Given the description of an element on the screen output the (x, y) to click on. 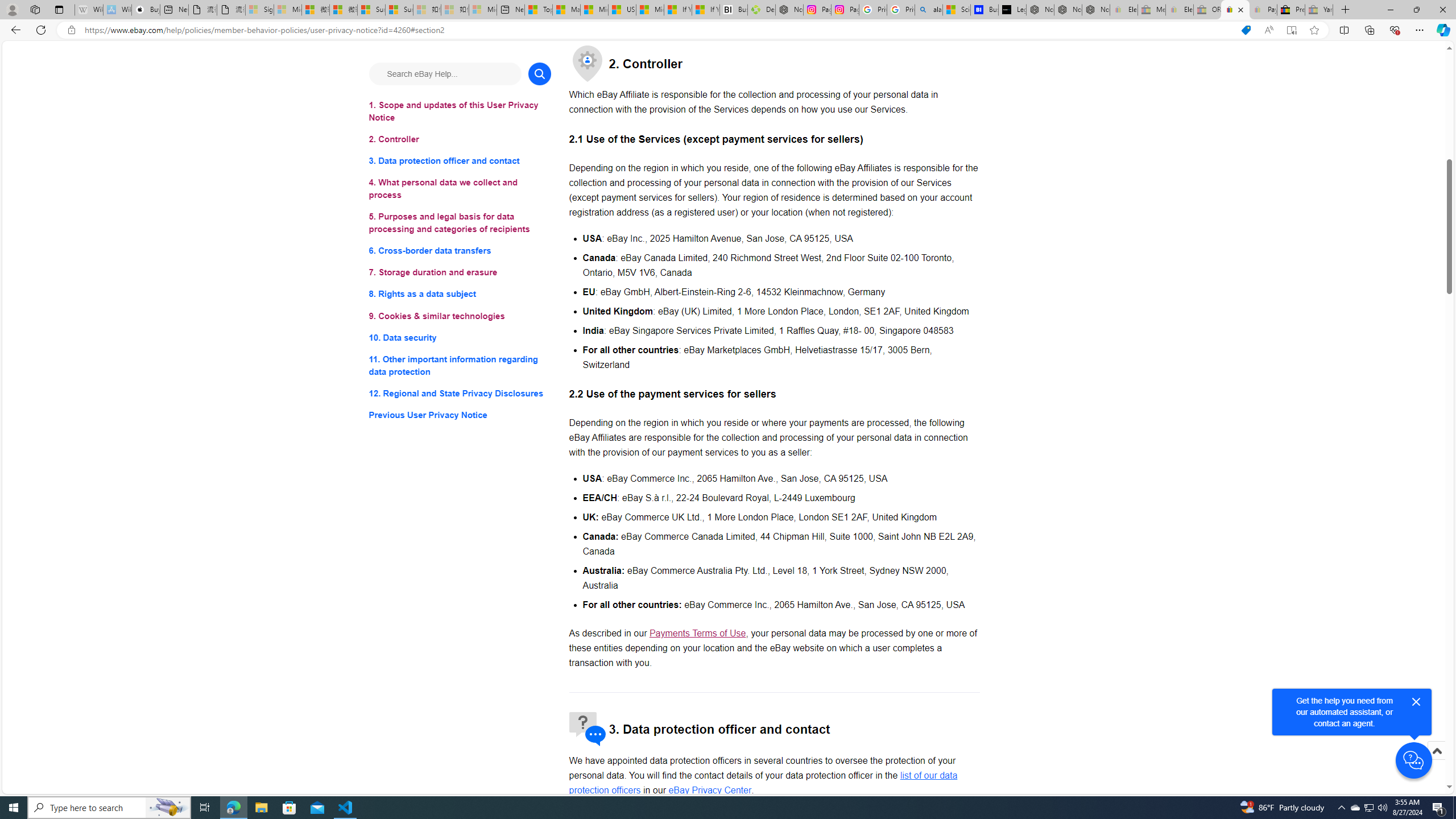
4. What personal data we collect and process (459, 189)
Sign in to your Microsoft account - Sleeping (259, 9)
eBay Privacy Center - opens in new window or tab (709, 789)
